Given the description of an element on the screen output the (x, y) to click on. 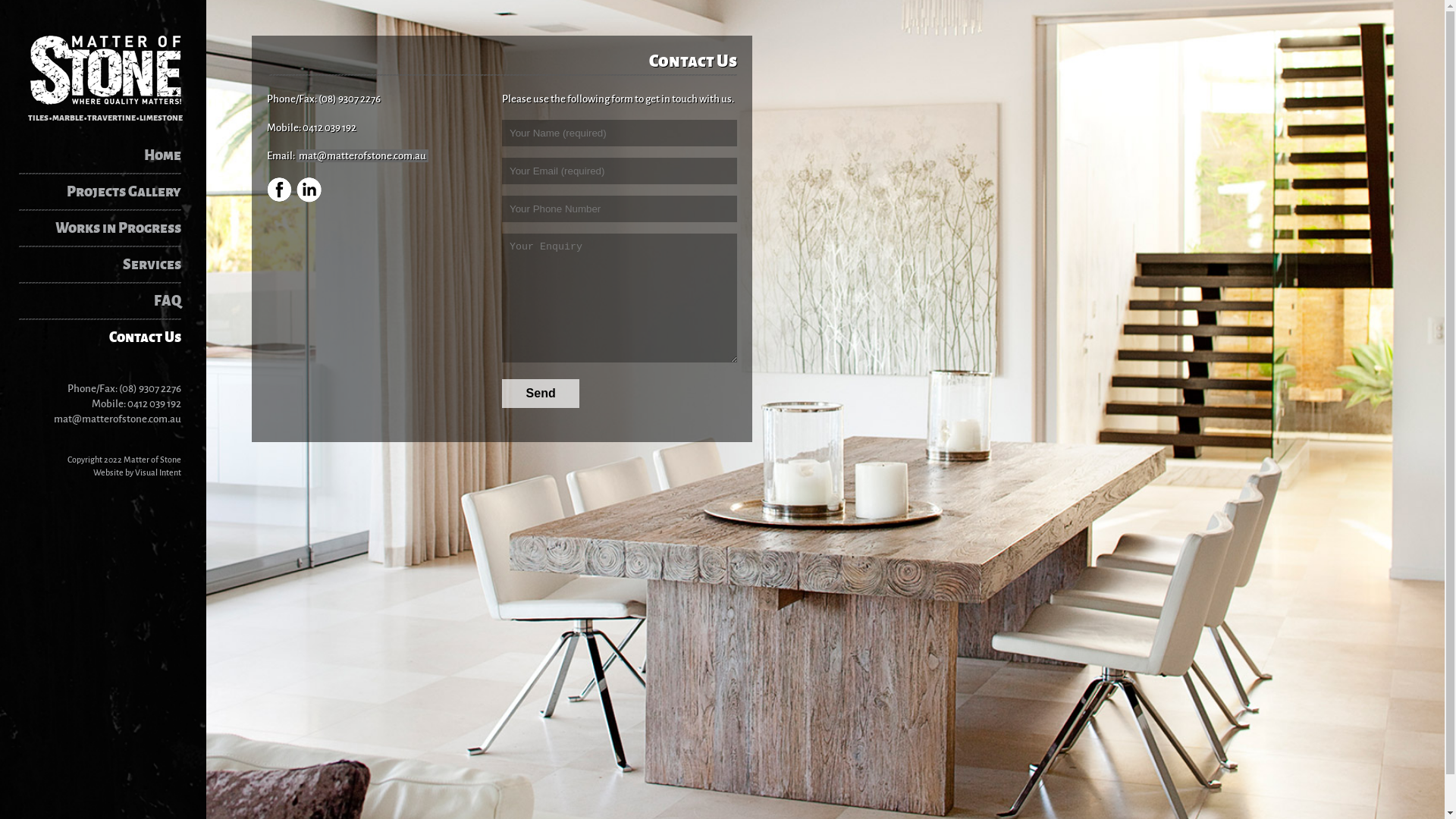
Works in Progress Element type: text (108, 227)
Send Element type: text (540, 393)
Website by Visual Intent Element type: text (137, 471)
Home Element type: text (108, 155)
Matter of Stone Element type: text (104, 69)
0412 039 192 Element type: text (154, 402)
(08) 9307 2276 Element type: text (150, 387)
mat@matterofstone.com.au Element type: text (117, 417)
FAQ Element type: text (108, 300)
Services Element type: text (108, 264)
Contact Us Element type: text (108, 337)
mat@matterofstone.com.au Element type: text (362, 155)
Projects Gallery Element type: text (108, 191)
